Given the description of an element on the screen output the (x, y) to click on. 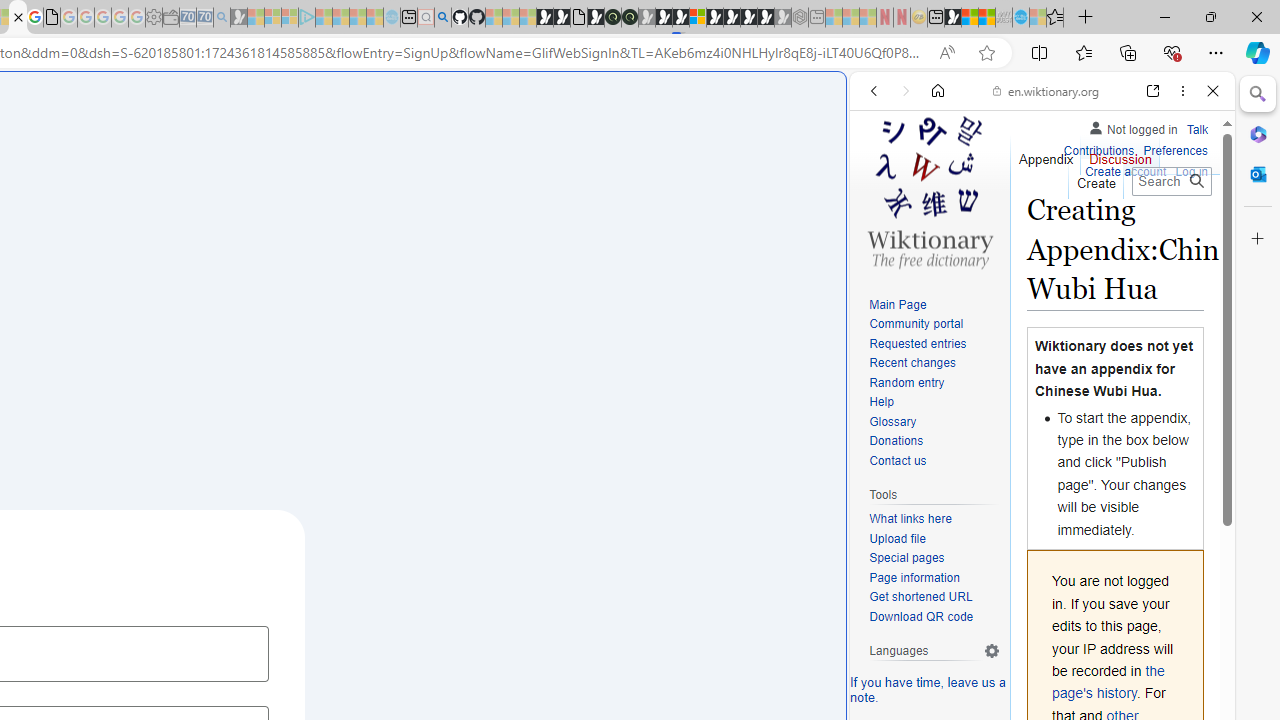
Special pages (906, 557)
Tabs you've opened (276, 265)
Special pages (934, 558)
Earth has six continents not seven, radical new study claims (986, 17)
Close split screen (844, 102)
Frequently visited (418, 265)
Talk (1197, 129)
Talk (1197, 126)
